Given the description of an element on the screen output the (x, y) to click on. 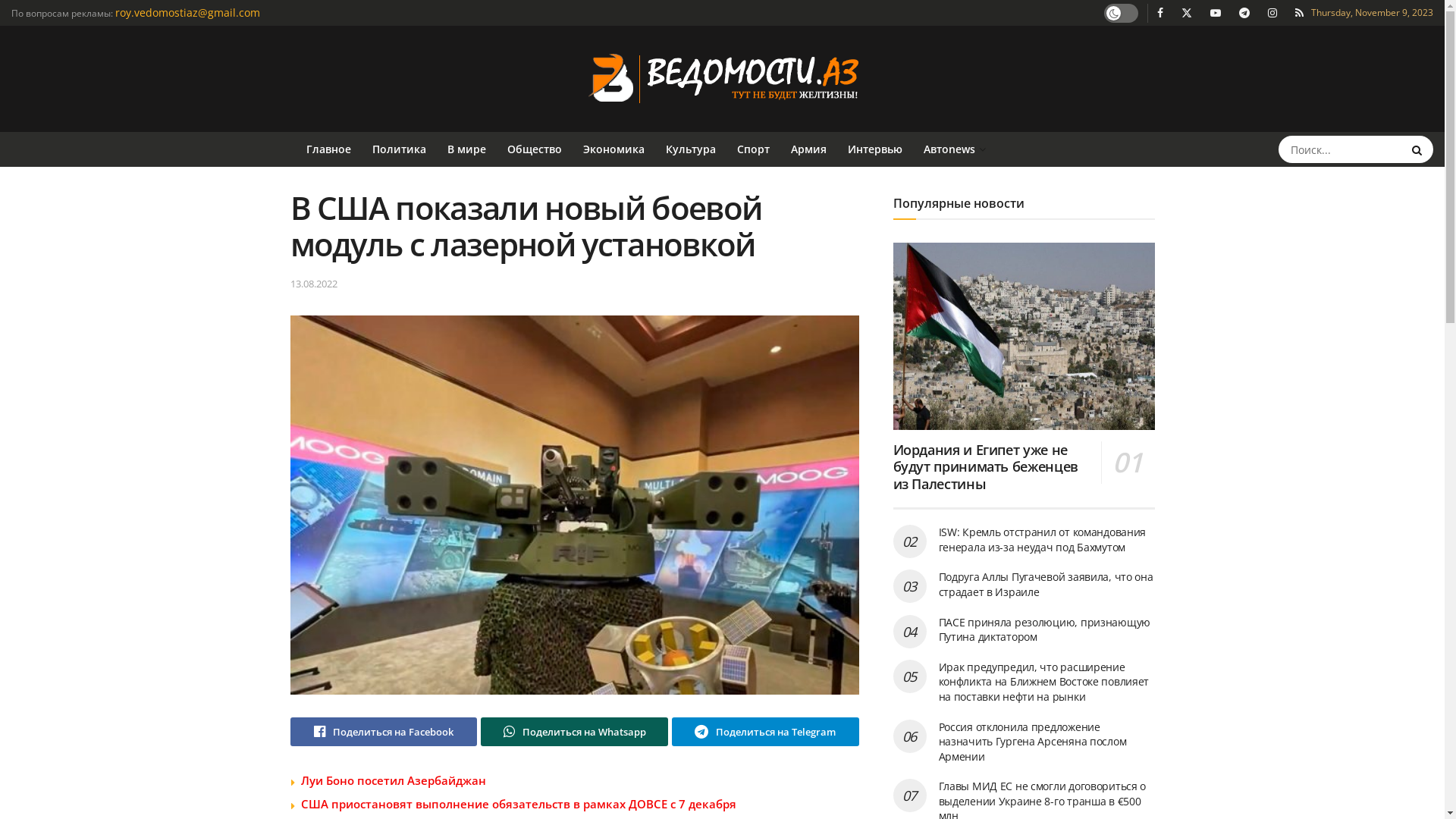
13.08.2022 Element type: text (312, 283)
